Given the description of an element on the screen output the (x, y) to click on. 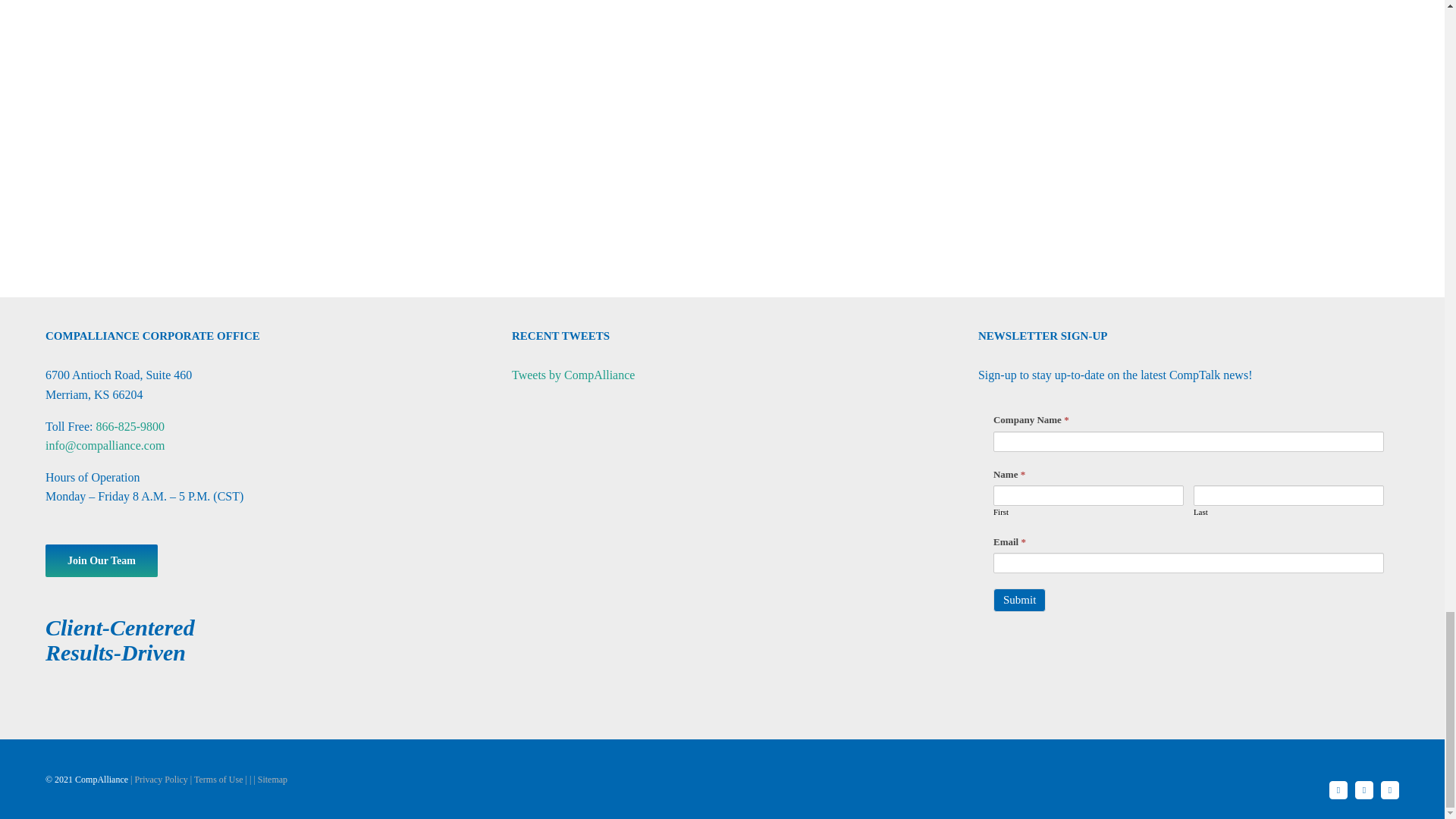
LinkedIn (1364, 790)
Twitter (1389, 790)
Facebook (1338, 790)
